Given the description of an element on the screen output the (x, y) to click on. 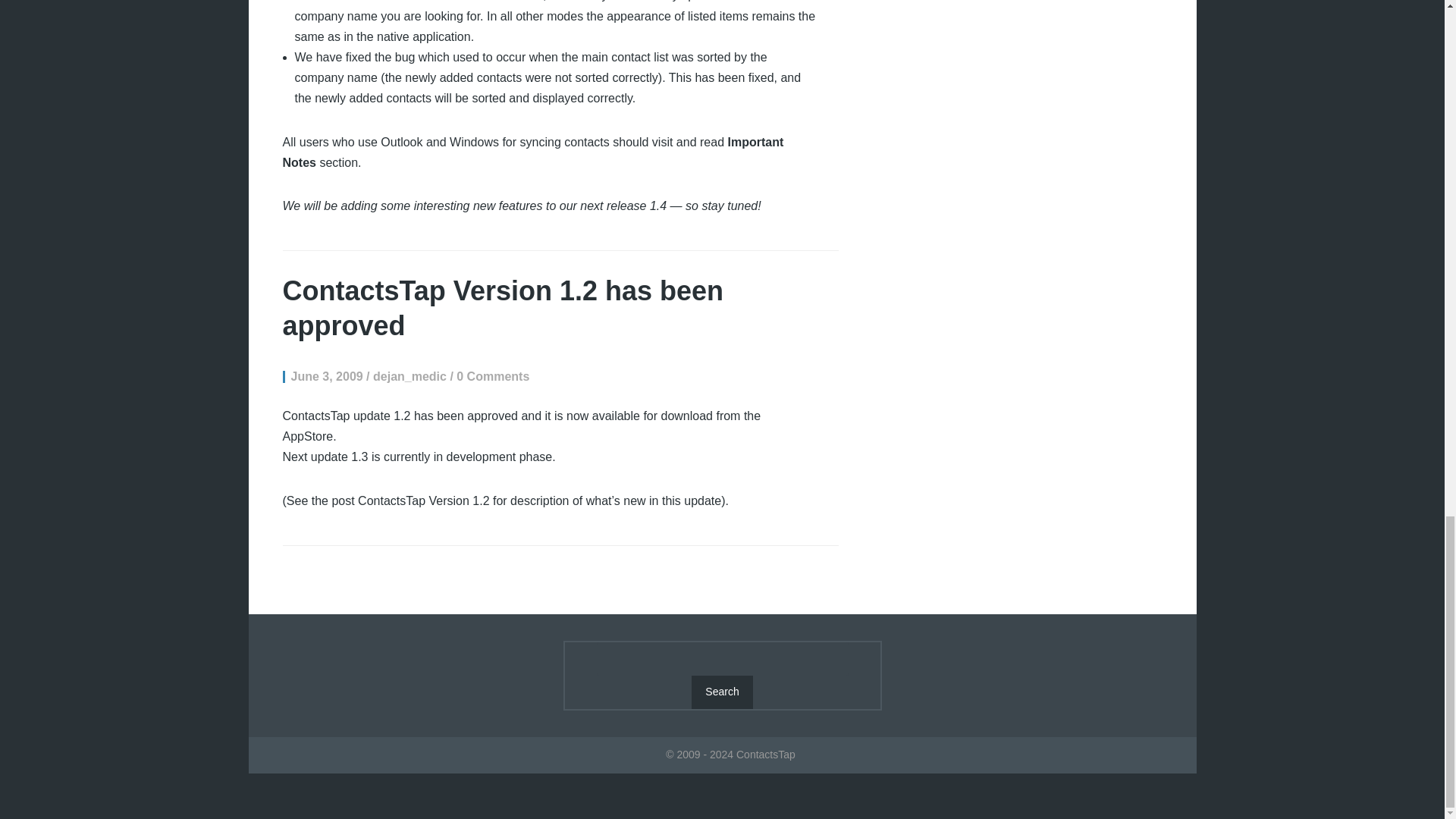
Search (721, 692)
Search (721, 692)
ContactsTap Version 1.2 has been approved (502, 308)
